Given the description of an element on the screen output the (x, y) to click on. 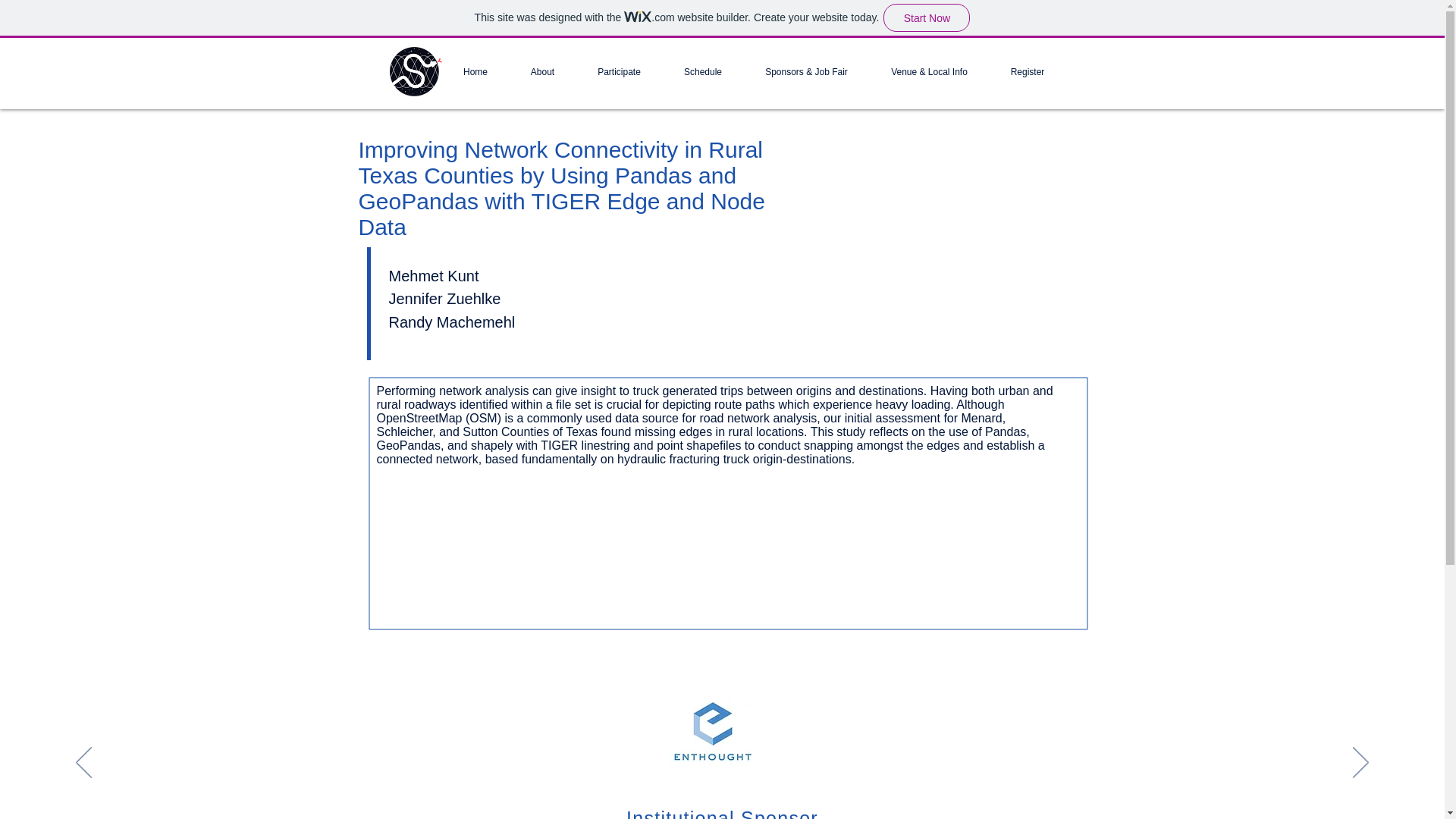
Home (474, 71)
About (542, 71)
Schedule (703, 71)
Participate (619, 71)
Register (1026, 71)
